Given the description of an element on the screen output the (x, y) to click on. 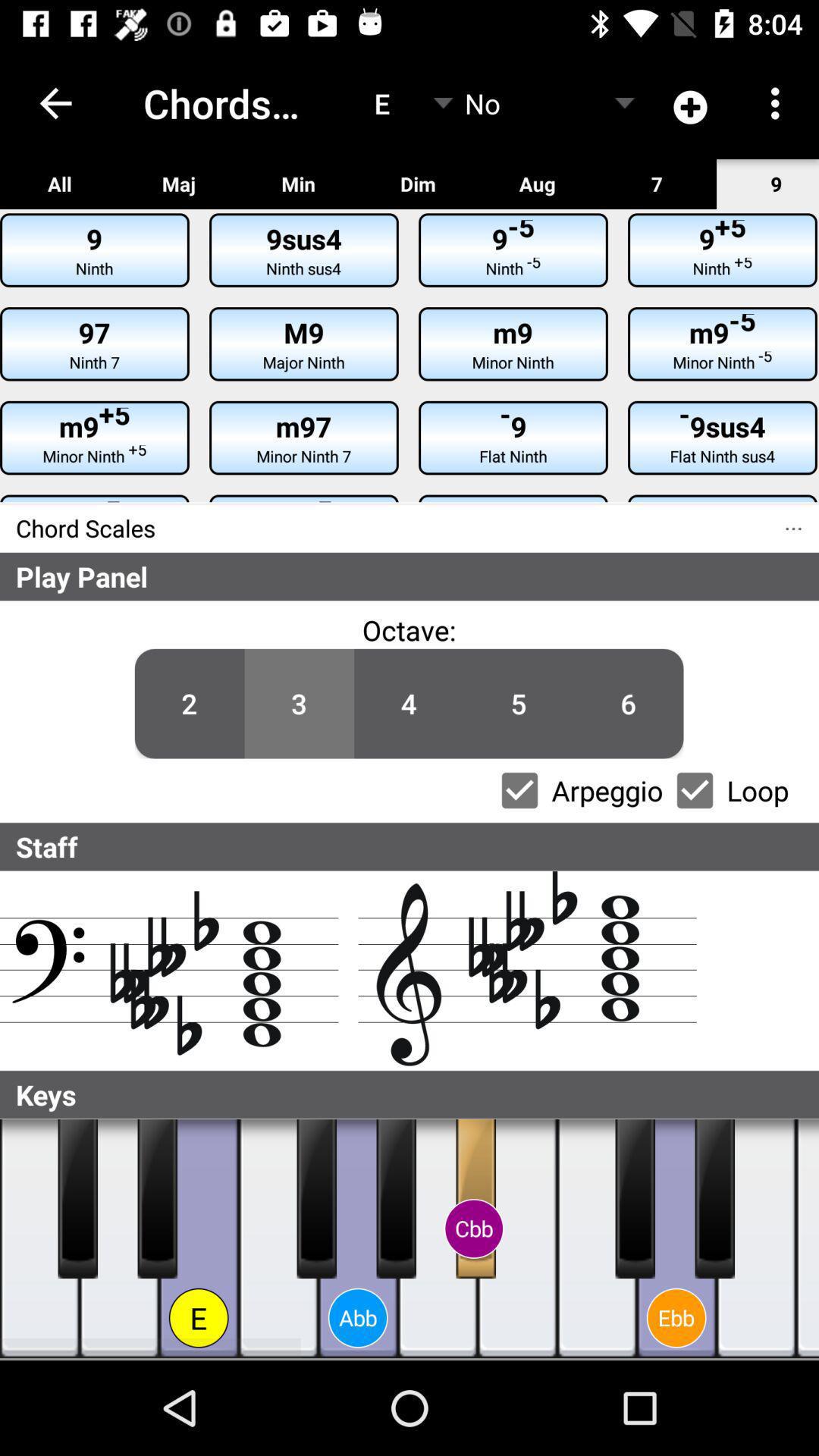
note a (437, 1238)
